Given the description of an element on the screen output the (x, y) to click on. 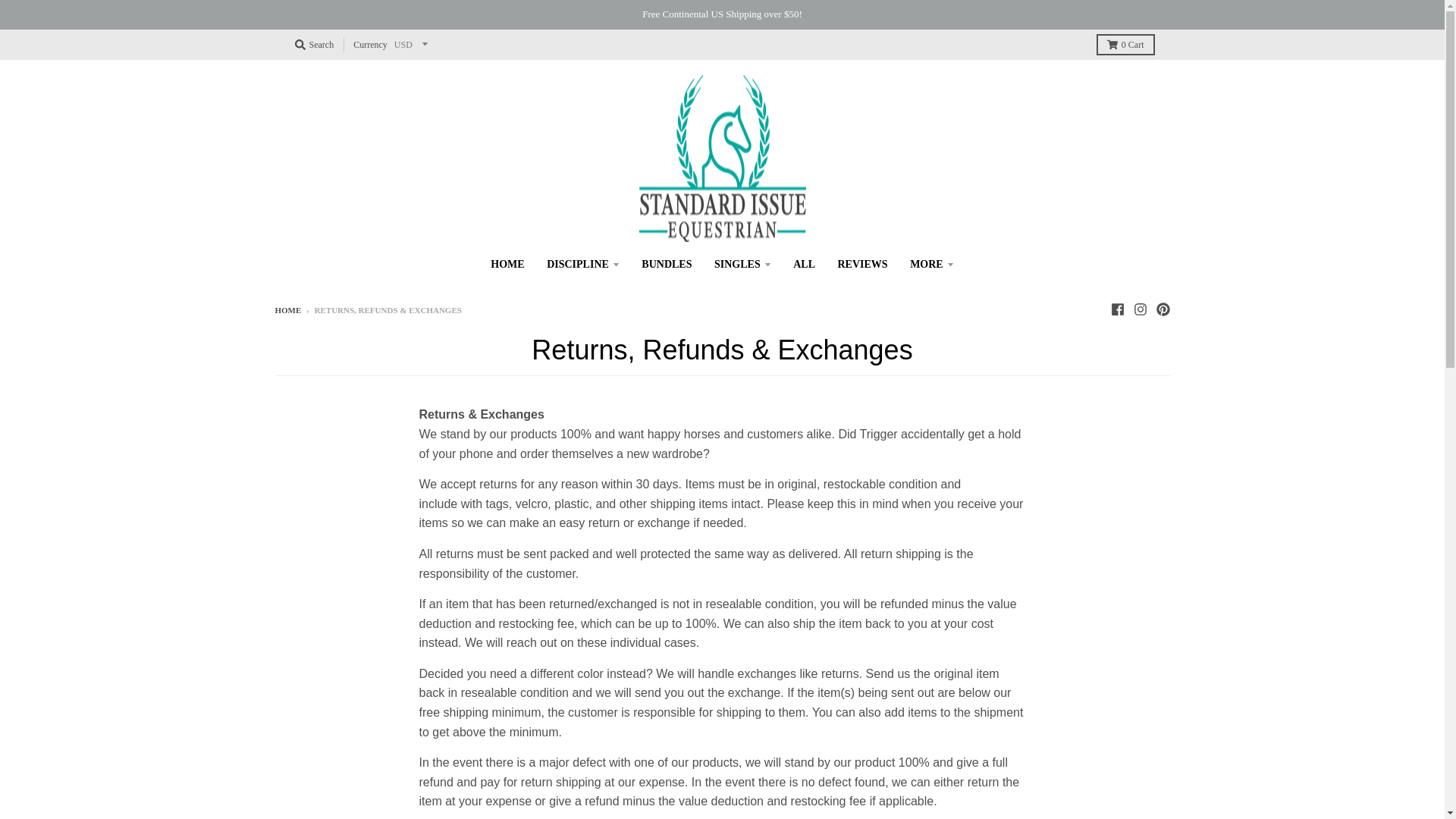
SINGLES (742, 264)
HOME (507, 264)
Pinterest - Standard Issue Equestrian (1162, 309)
0 Cart (1125, 44)
BUNDLES (666, 264)
ALL (804, 264)
REVIEWS (861, 264)
Back to the frontpage (288, 309)
DISCIPLINE (582, 264)
Instagram - Standard Issue Equestrian (1139, 309)
